Given the description of an element on the screen output the (x, y) to click on. 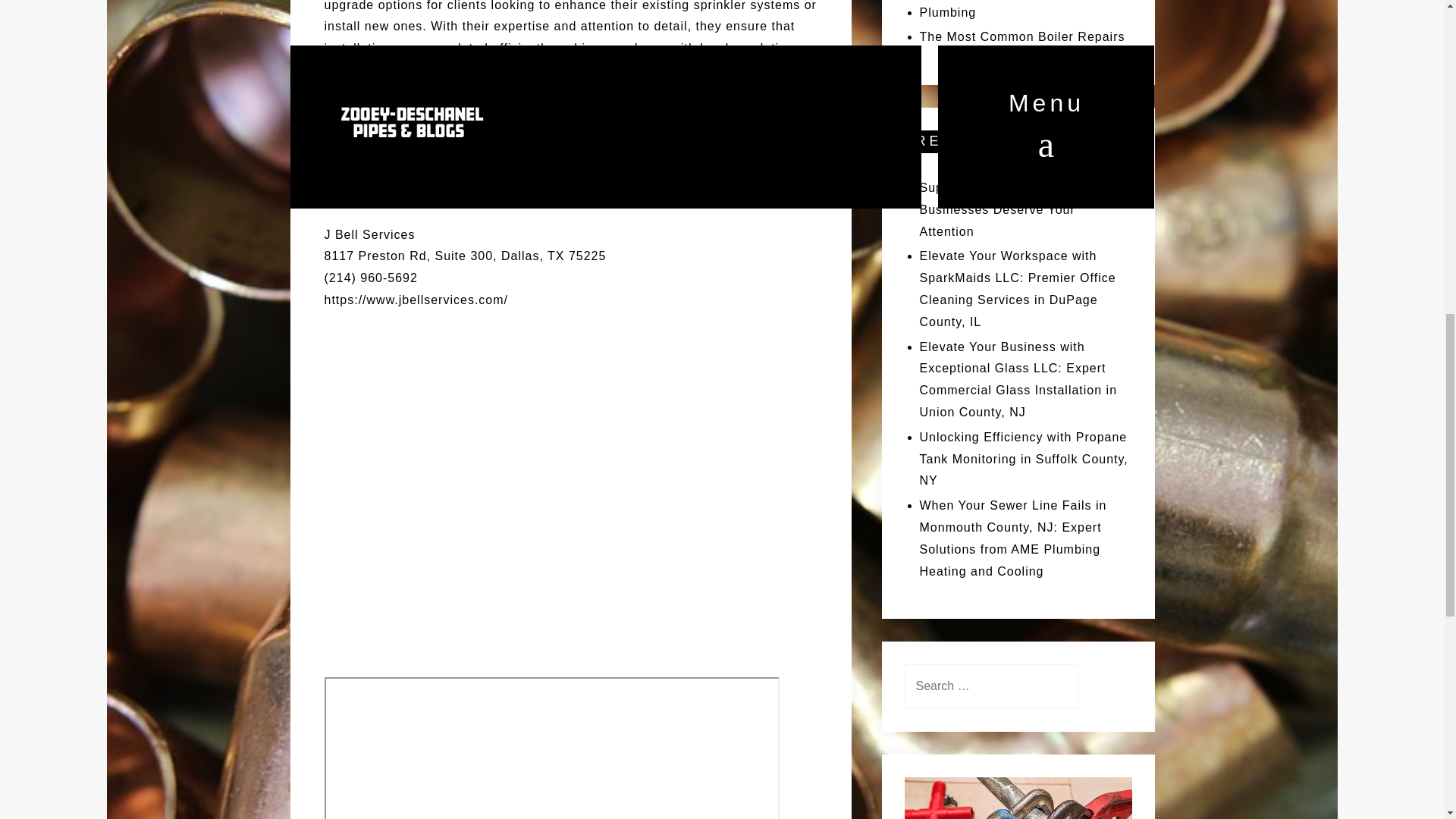
Plumbing (946, 11)
The Most Common Boiler Repairs (1021, 36)
Support Local: Why These Businesses Deserve Your Attention (999, 209)
